Given the description of an element on the screen output the (x, y) to click on. 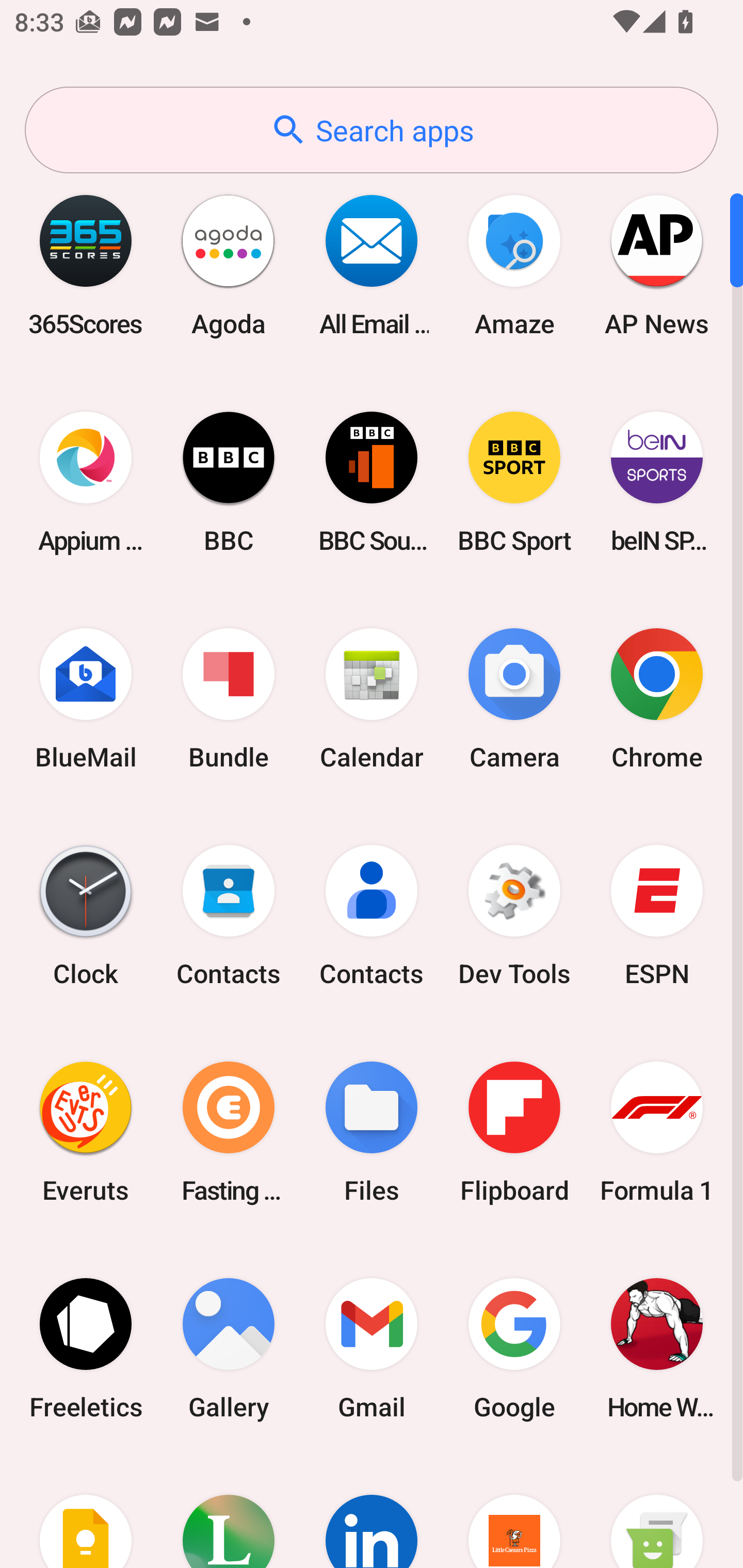
  Search apps (371, 130)
365Scores (85, 264)
Agoda (228, 264)
All Email Connect (371, 264)
Amaze (514, 264)
AP News (656, 264)
Appium Settings (85, 482)
BBC (228, 482)
BBC Sounds (371, 482)
BBC Sport (514, 482)
beIN SPORTS (656, 482)
BlueMail (85, 699)
Bundle (228, 699)
Calendar (371, 699)
Camera (514, 699)
Chrome (656, 699)
Clock (85, 915)
Contacts (228, 915)
Contacts (371, 915)
Dev Tools (514, 915)
ESPN (656, 915)
Everuts (85, 1131)
Fasting Coach (228, 1131)
Files (371, 1131)
Flipboard (514, 1131)
Formula 1 (656, 1131)
Freeletics (85, 1348)
Gallery (228, 1348)
Gmail (371, 1348)
Google (514, 1348)
Home Workout (656, 1348)
Keep Notes (85, 1512)
Lifesum (228, 1512)
LinkedIn (371, 1512)
Little Caesars Pizza (514, 1512)
Messaging (656, 1512)
